Given the description of an element on the screen output the (x, y) to click on. 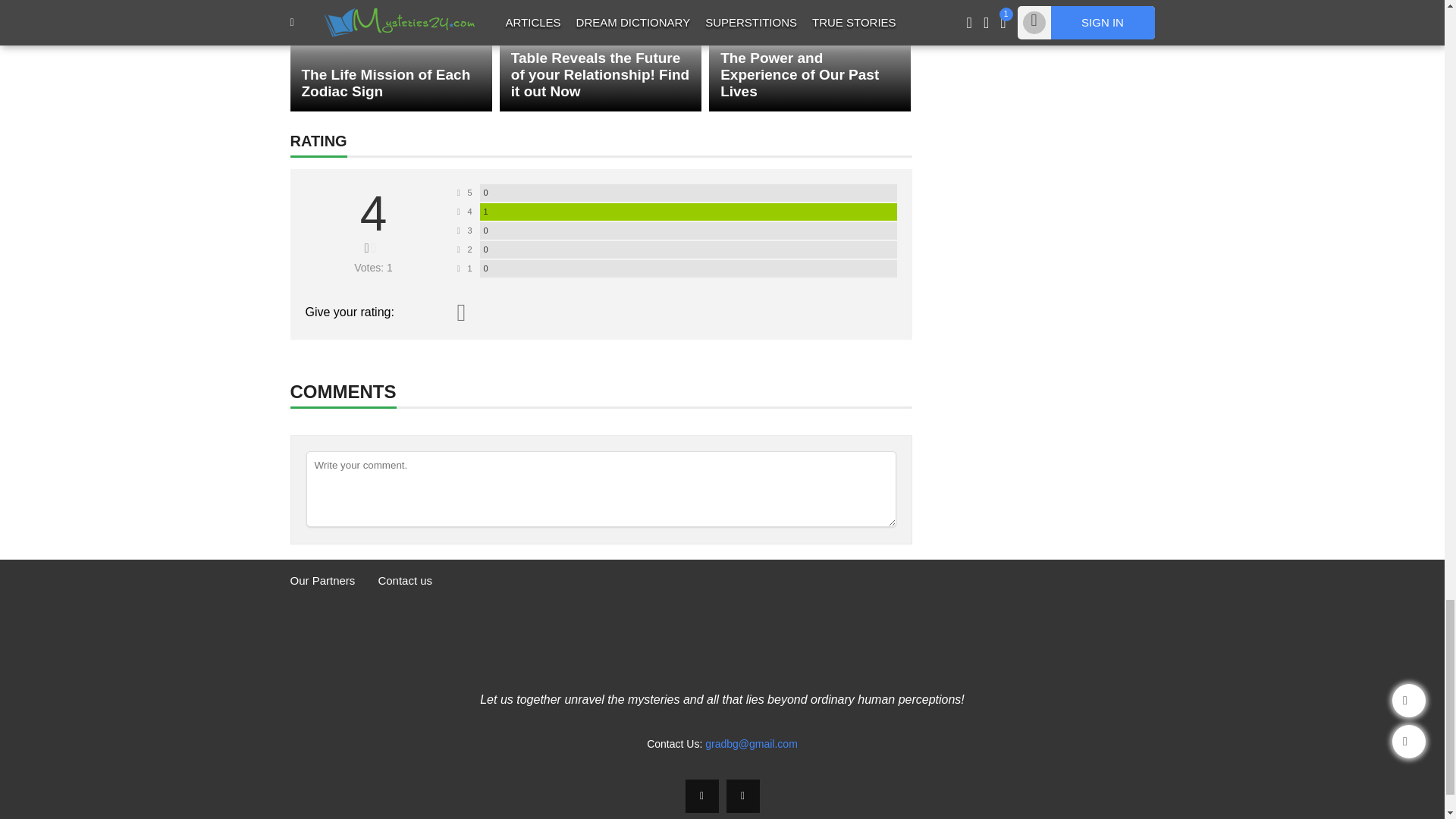
The Life Mission of Each Zodiac Sign (390, 55)
The Power and Experience of Our Past Lives (810, 55)
RSS (743, 796)
Facebook (702, 796)
